Given the description of an element on the screen output the (x, y) to click on. 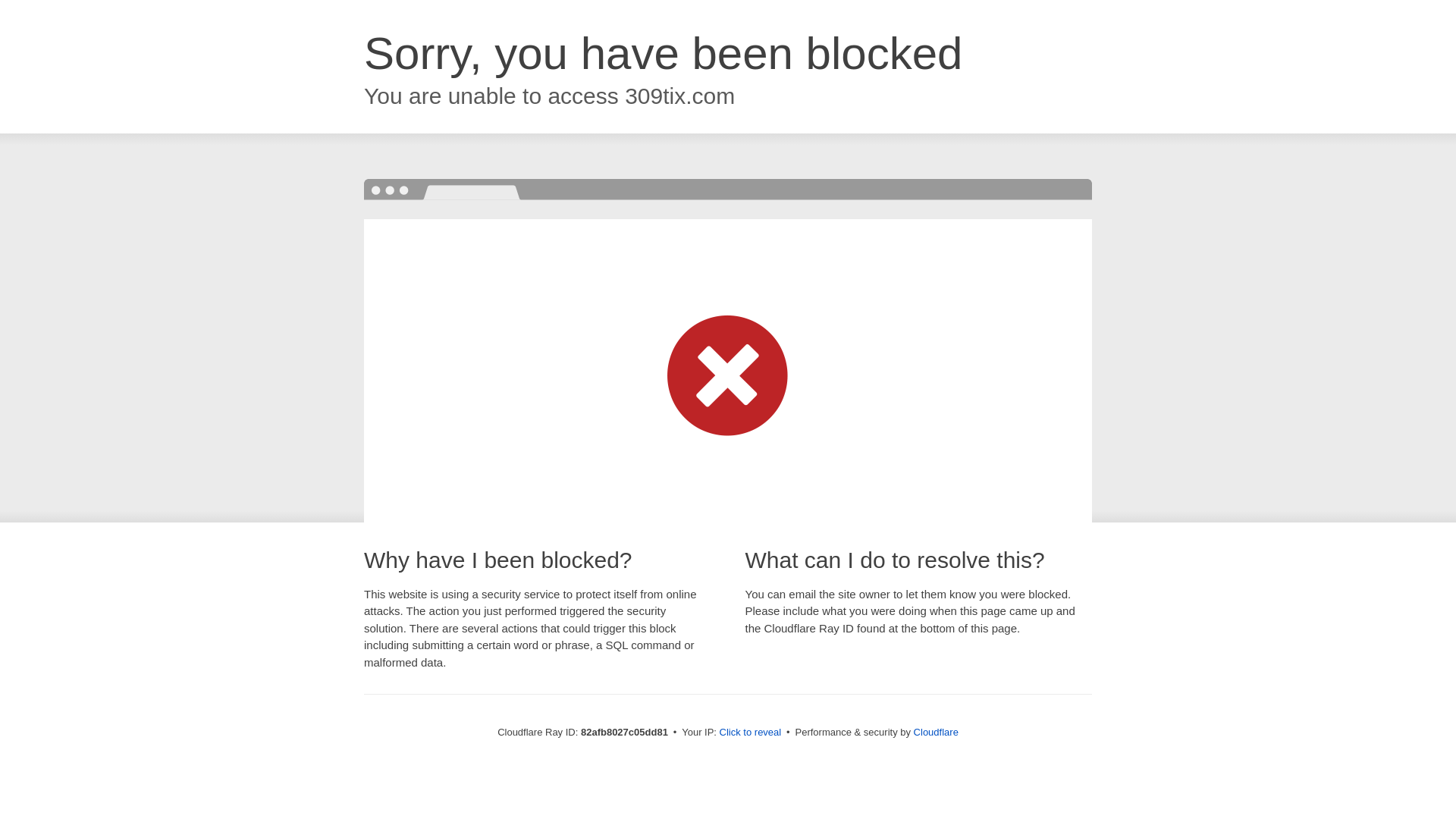
Click to reveal Element type: text (750, 732)
Cloudflare Element type: text (935, 731)
